Given the description of an element on the screen output the (x, y) to click on. 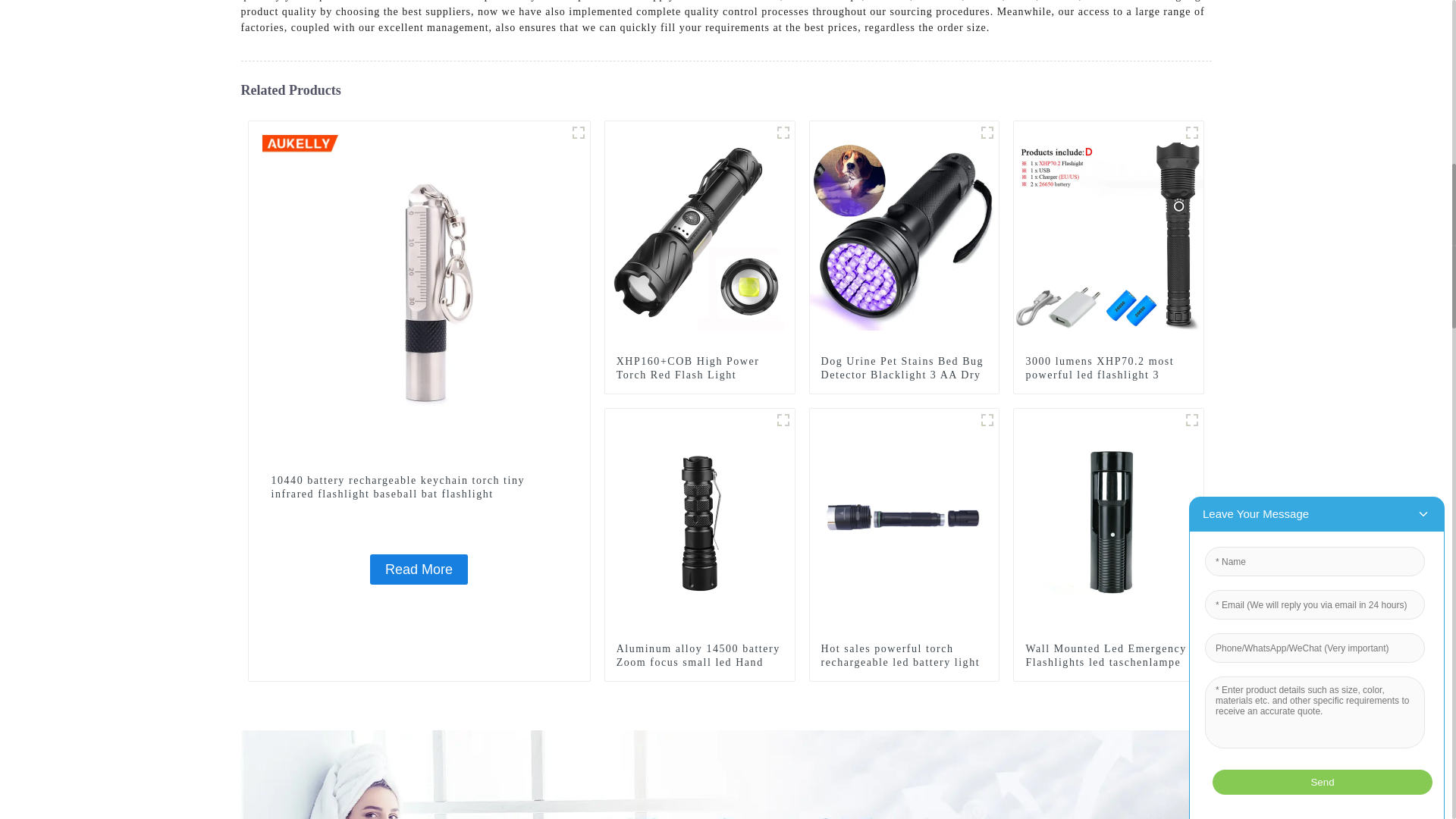
HTB13mdka2vsK1Rjy0Fiq6zwtXXat (782, 419)
- (782, 132)
HTB1dURbMgHqK1RjSZFEq6AGMXXaq (986, 132)
